Given the description of an element on the screen output the (x, y) to click on. 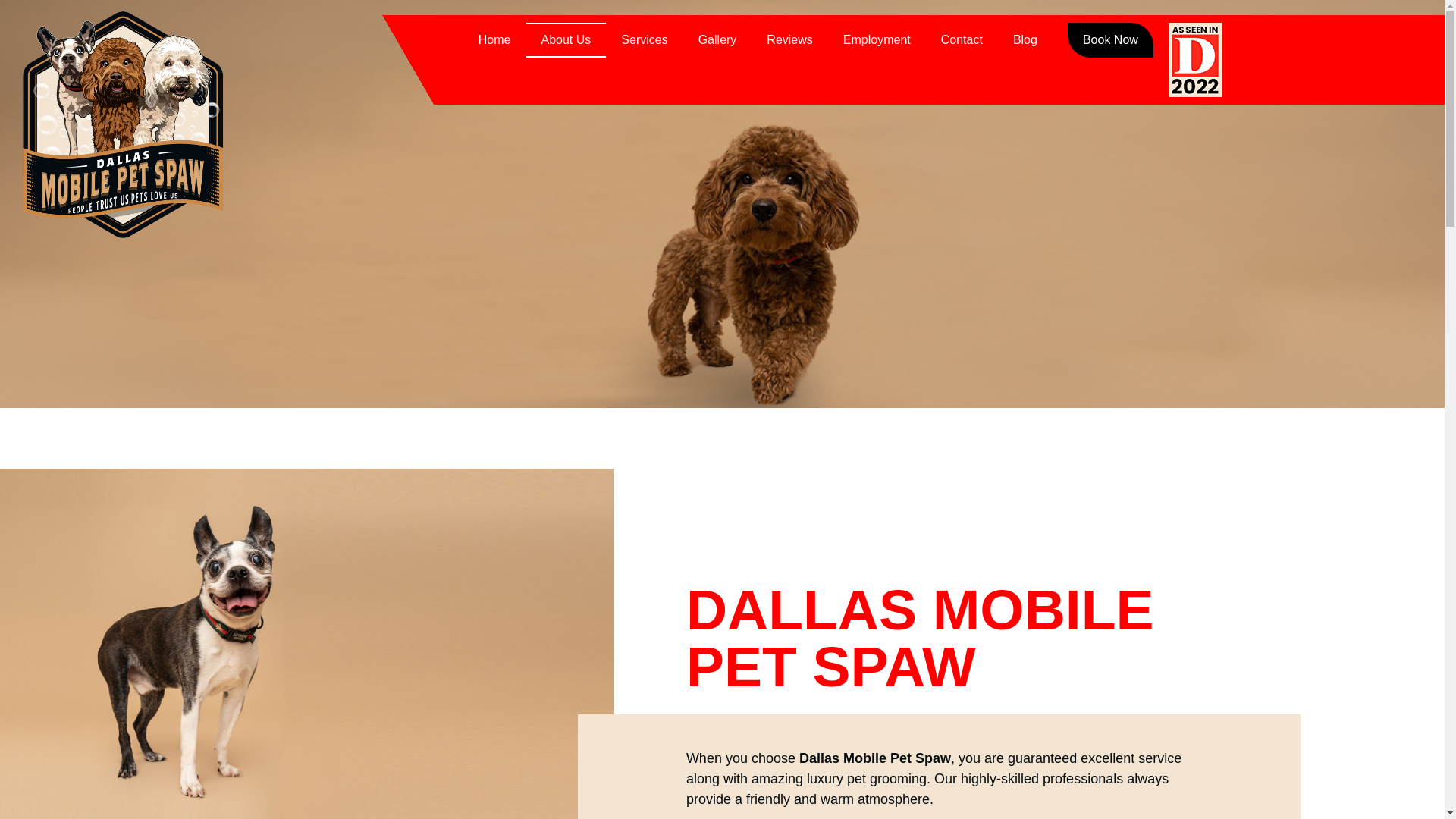
About Us (566, 39)
Reviews (789, 39)
Services (643, 39)
Book Now (1110, 39)
Gallery (717, 39)
Blog (1024, 39)
Contact (961, 39)
Employment (877, 39)
Home (494, 39)
